Given the description of an element on the screen output the (x, y) to click on. 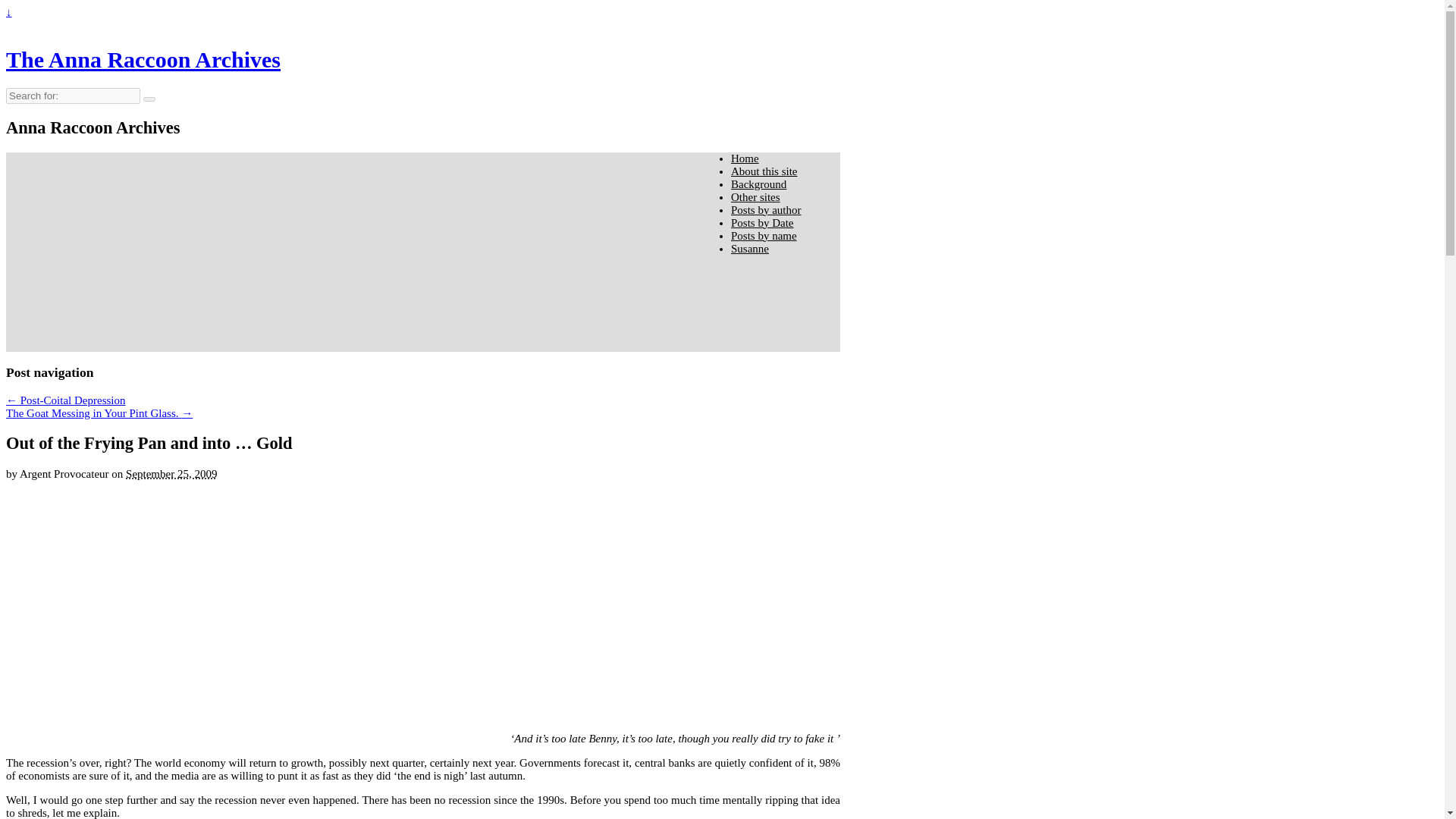
Home (744, 158)
The Anna Raccoon Archives (143, 59)
The Anna Raccoon Archives (143, 59)
Posts by author (766, 209)
Posts by name (763, 235)
About this site (763, 171)
Other sites (755, 196)
Background (758, 184)
Susanne (749, 248)
Posts by Date (761, 223)
